Given the description of an element on the screen output the (x, y) to click on. 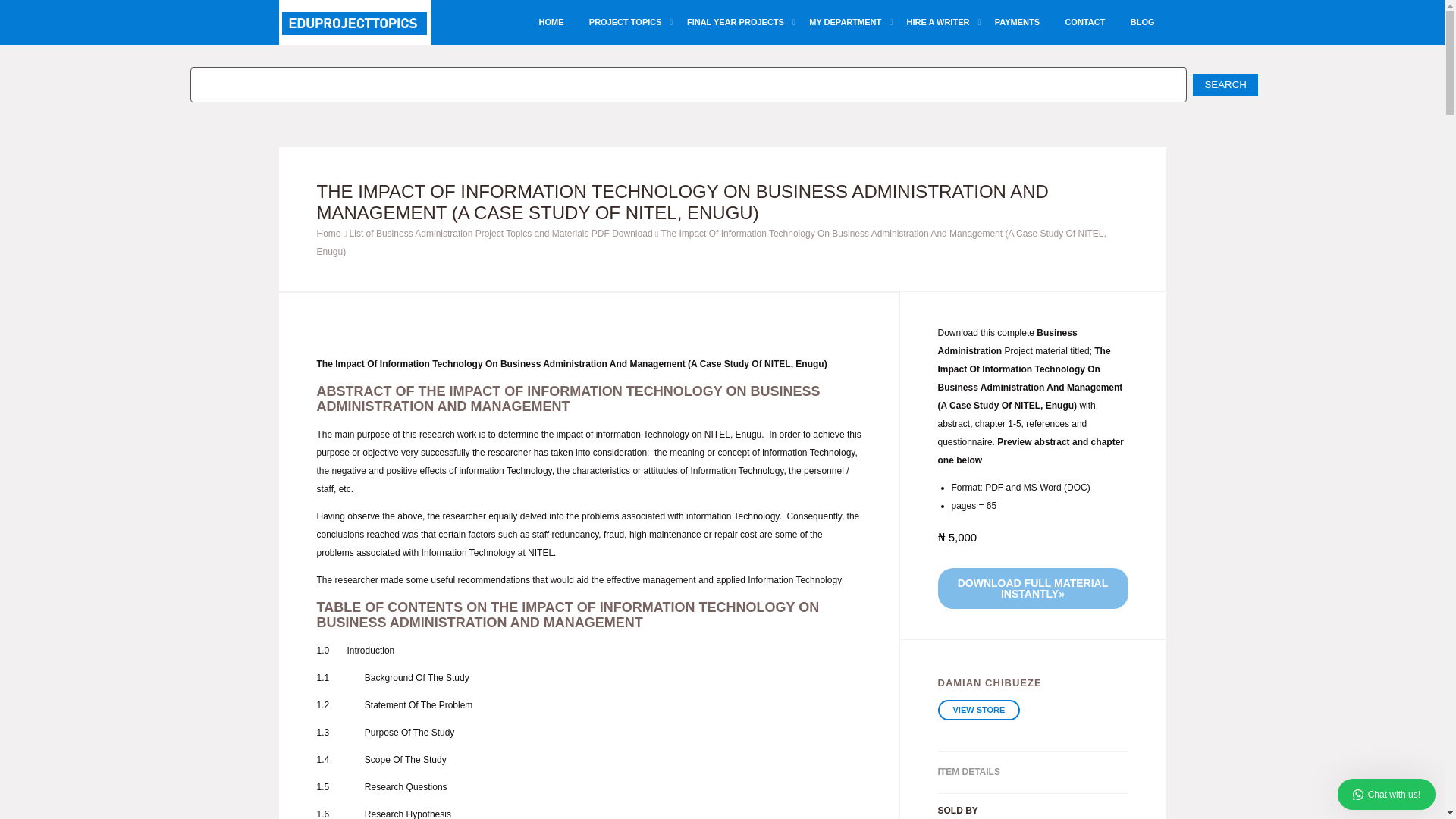
PAYMENTS (1017, 22)
HIRE A WRITER (938, 22)
FINAL YEAR PROJECTS (734, 22)
CONTACT (1084, 22)
BLOG (1142, 22)
MY DEPARTMENT (844, 22)
HOME (551, 22)
PROJECT TOPICS (625, 22)
SEARCH (1224, 84)
